Given the description of an element on the screen output the (x, y) to click on. 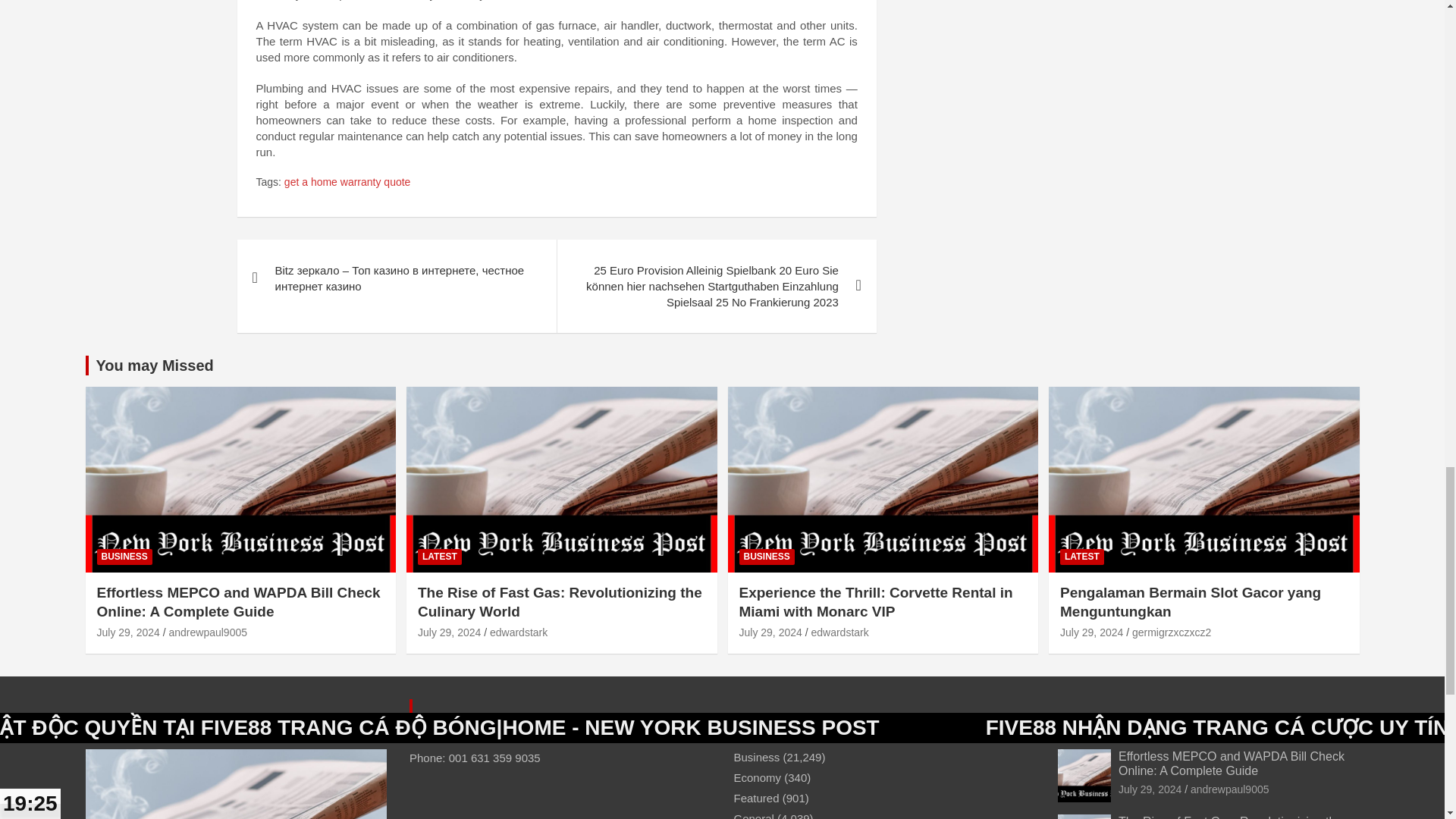
get a home warranty quote (346, 182)
The Rise of Fast Gas: Revolutionizing the Culinary World (448, 632)
Pengalaman Bermain Slot Gacor yang Menguntungkan (1090, 632)
